Given the description of an element on the screen output the (x, y) to click on. 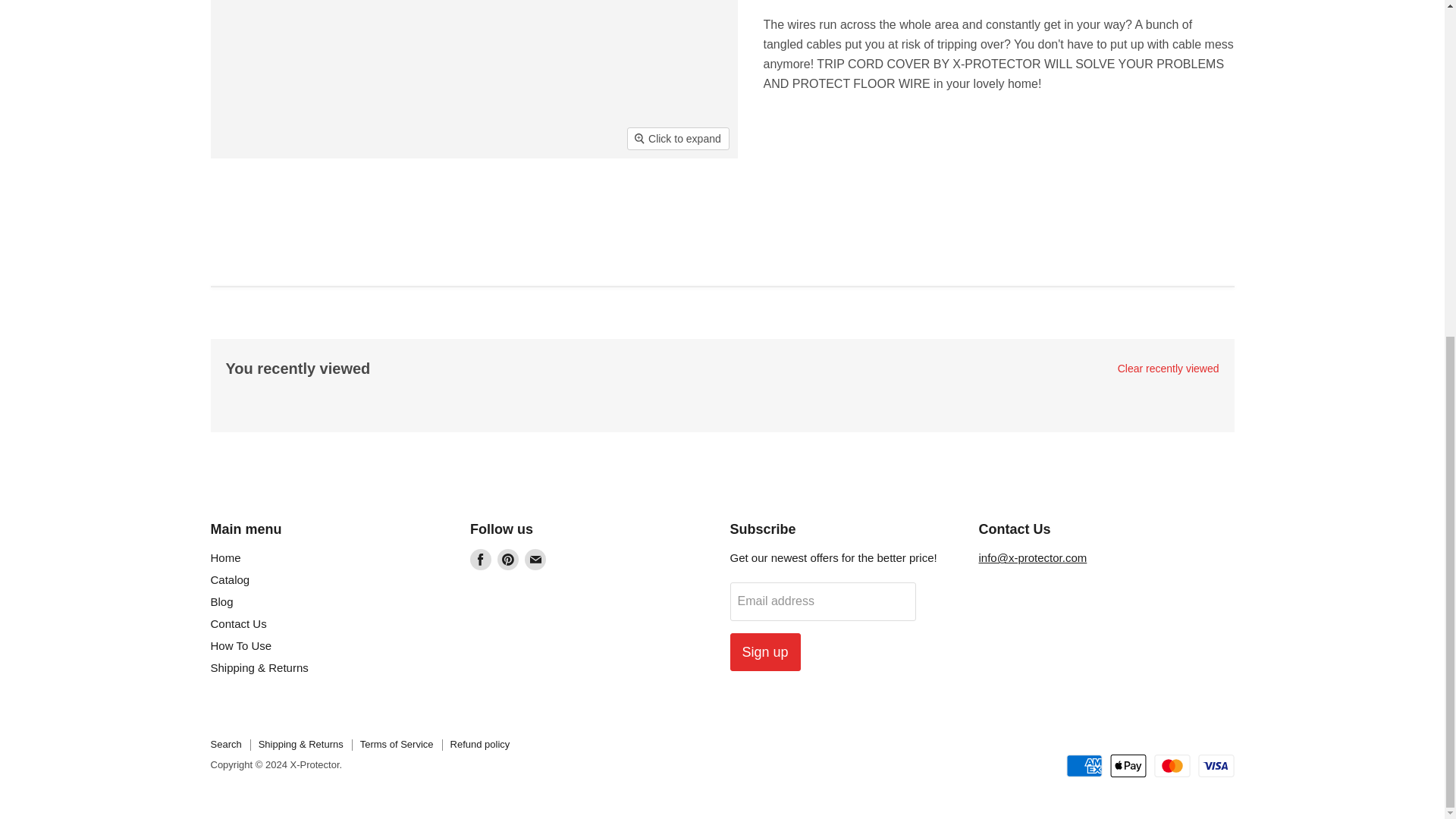
Visa (1216, 765)
Mastercard (1172, 765)
Facebook (481, 559)
Apple Pay (1128, 765)
Pinterest (507, 559)
Email (535, 559)
American Express (1083, 765)
